Given the description of an element on the screen output the (x, y) to click on. 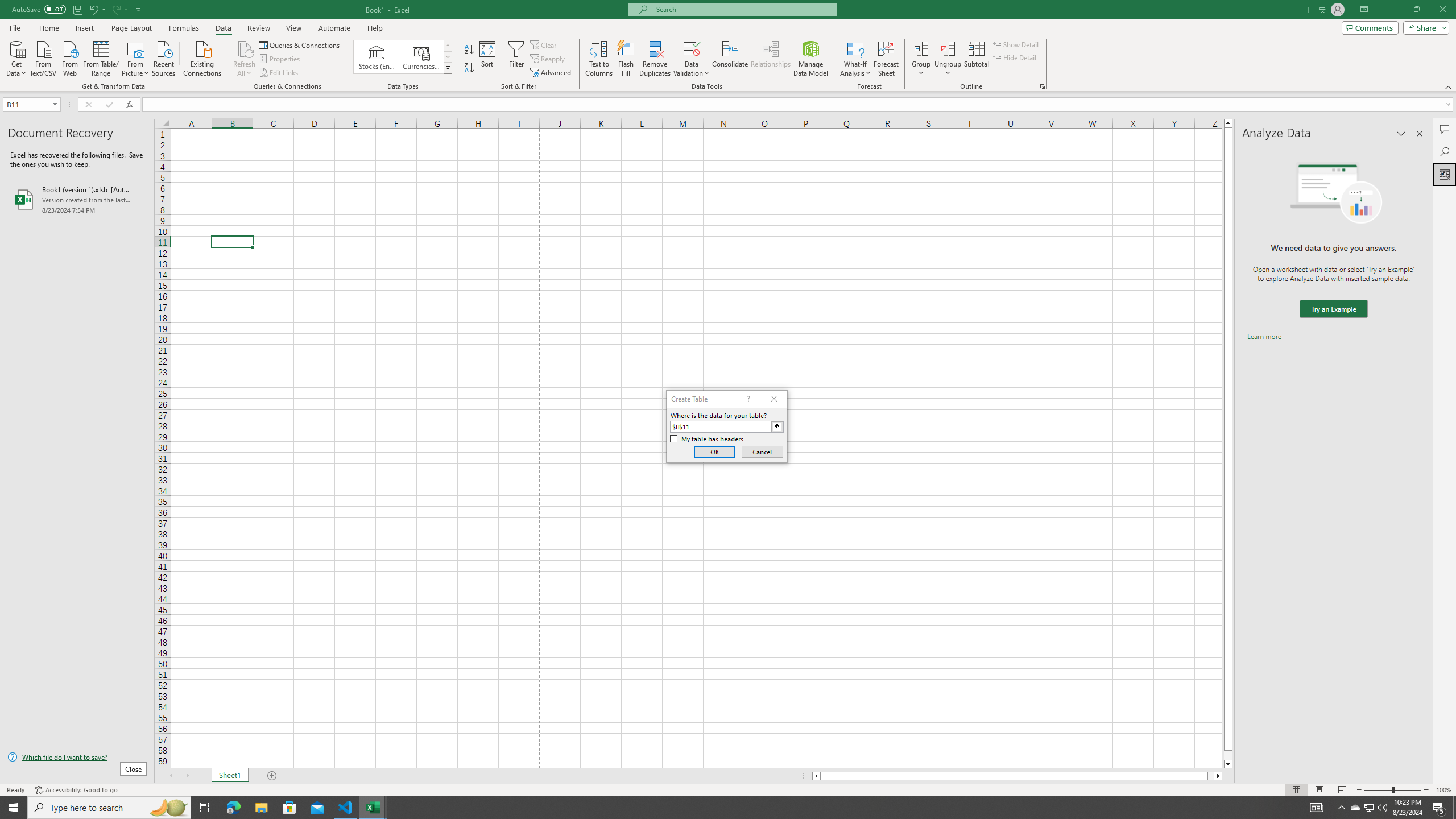
Learn more (1264, 336)
Remove Duplicates (654, 58)
Reapply (548, 58)
AutomationID: ConvertToLinkedEntity (403, 56)
Formula Bar (799, 104)
Queries & Connections (300, 44)
From Table/Range (100, 57)
